Given the description of an element on the screen output the (x, y) to click on. 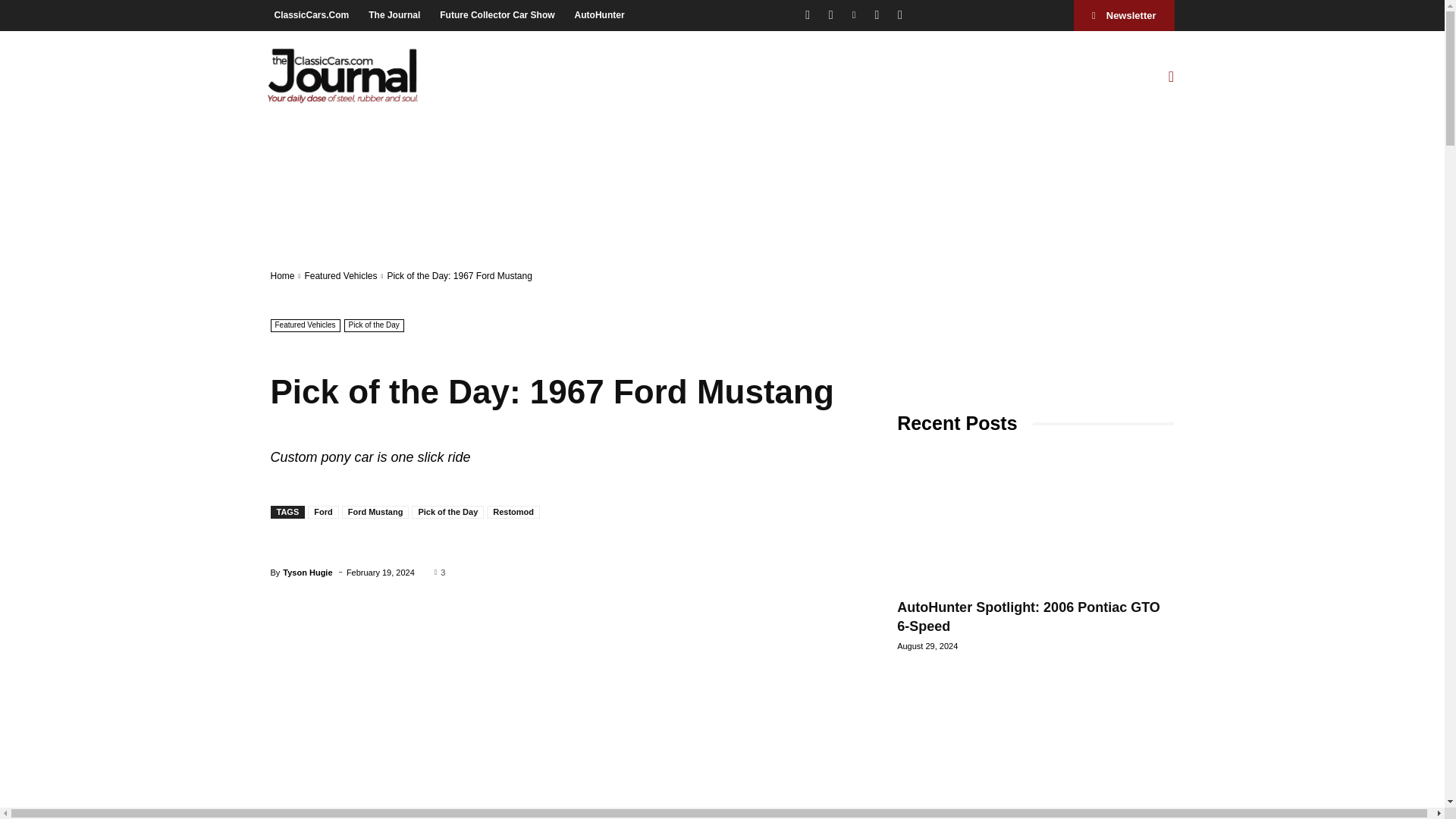
Instagram (829, 15)
Pick of the Day (447, 512)
Pick of the Day (373, 325)
AutoHunter (599, 13)
Youtube (899, 15)
Restomod (513, 512)
Home (281, 276)
Future Collector Car Show (496, 13)
Featured Vehicles (340, 276)
Ford Mustang (375, 512)
